Given the description of an element on the screen output the (x, y) to click on. 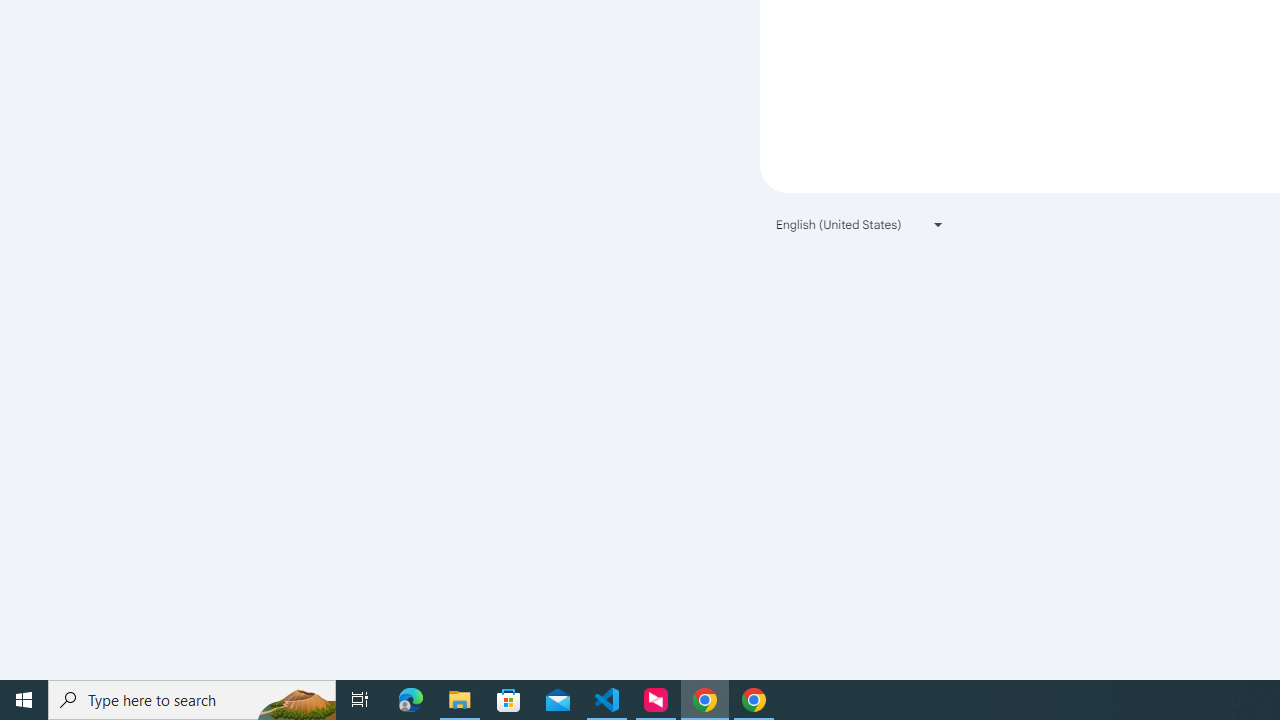
English (United States) (860, 224)
